Given the description of an element on the screen output the (x, y) to click on. 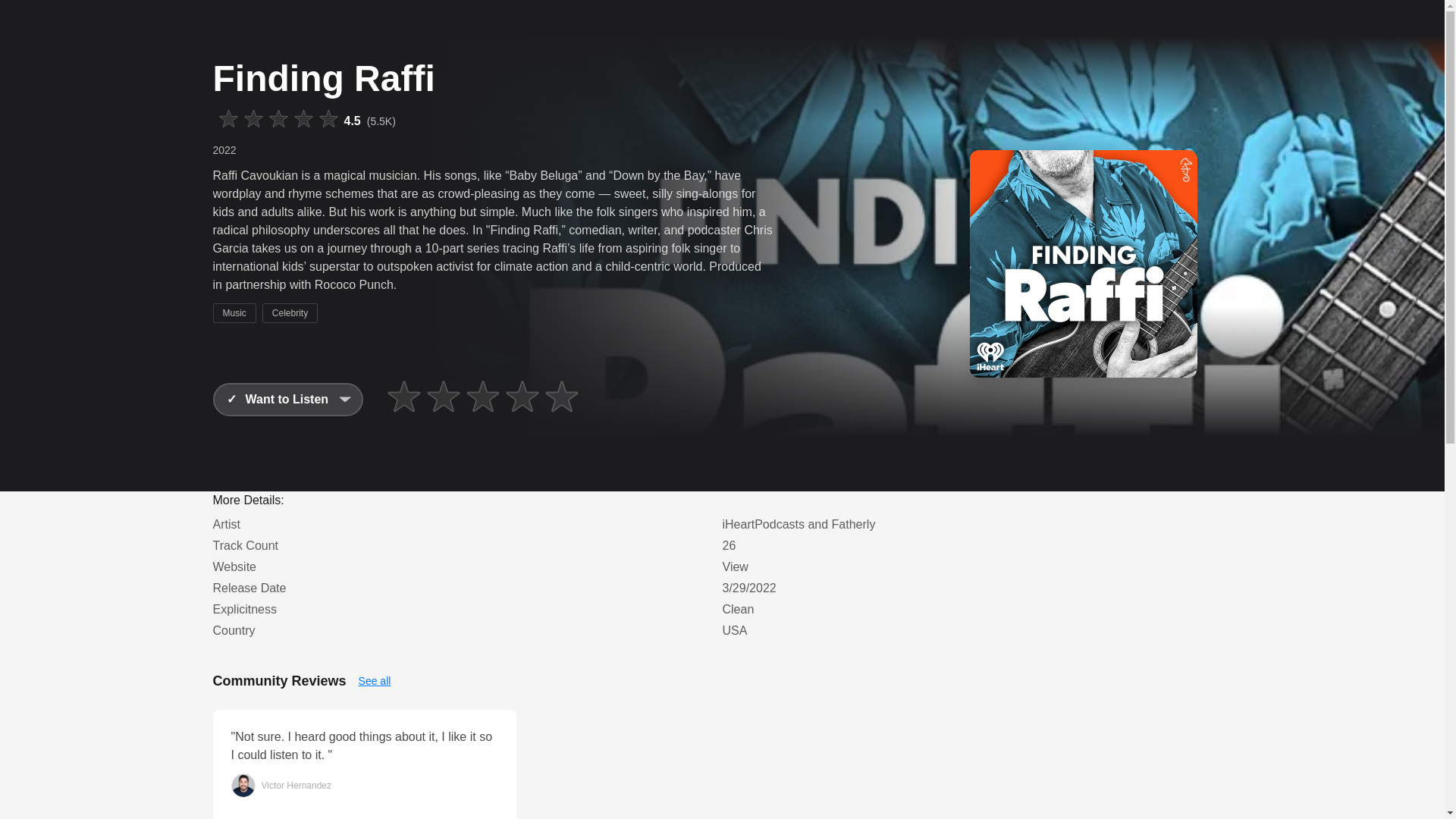
See all (374, 680)
View (735, 566)
